Given the description of an element on the screen output the (x, y) to click on. 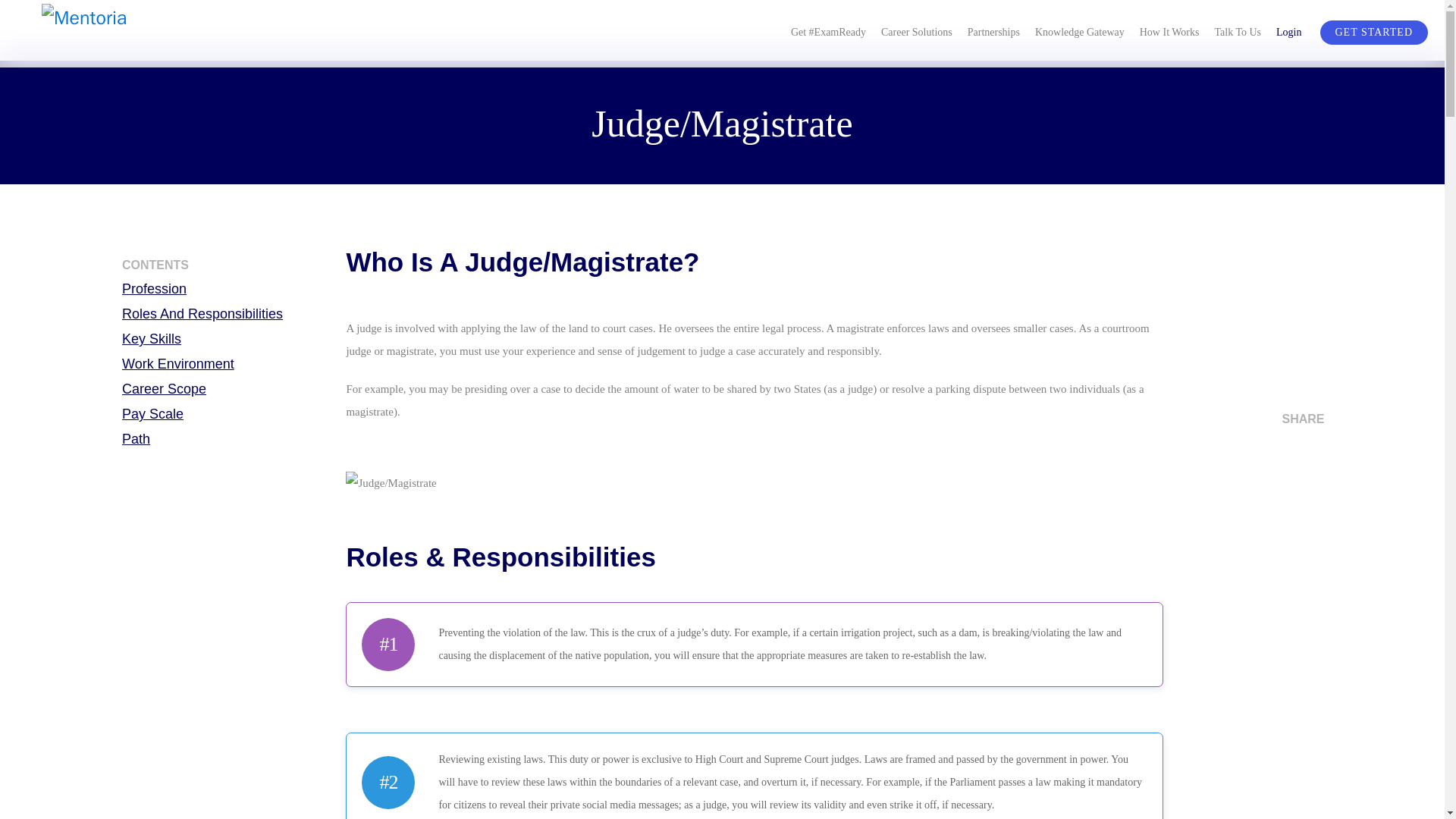
Pay Scale (228, 413)
Key Skills (228, 338)
Roles And Responsibilities (228, 313)
Profession (228, 288)
Mentoria (123, 34)
Career Scope (228, 388)
Work Environment (228, 363)
Career Solutions (916, 30)
Path (228, 438)
